Given the description of an element on the screen output the (x, y) to click on. 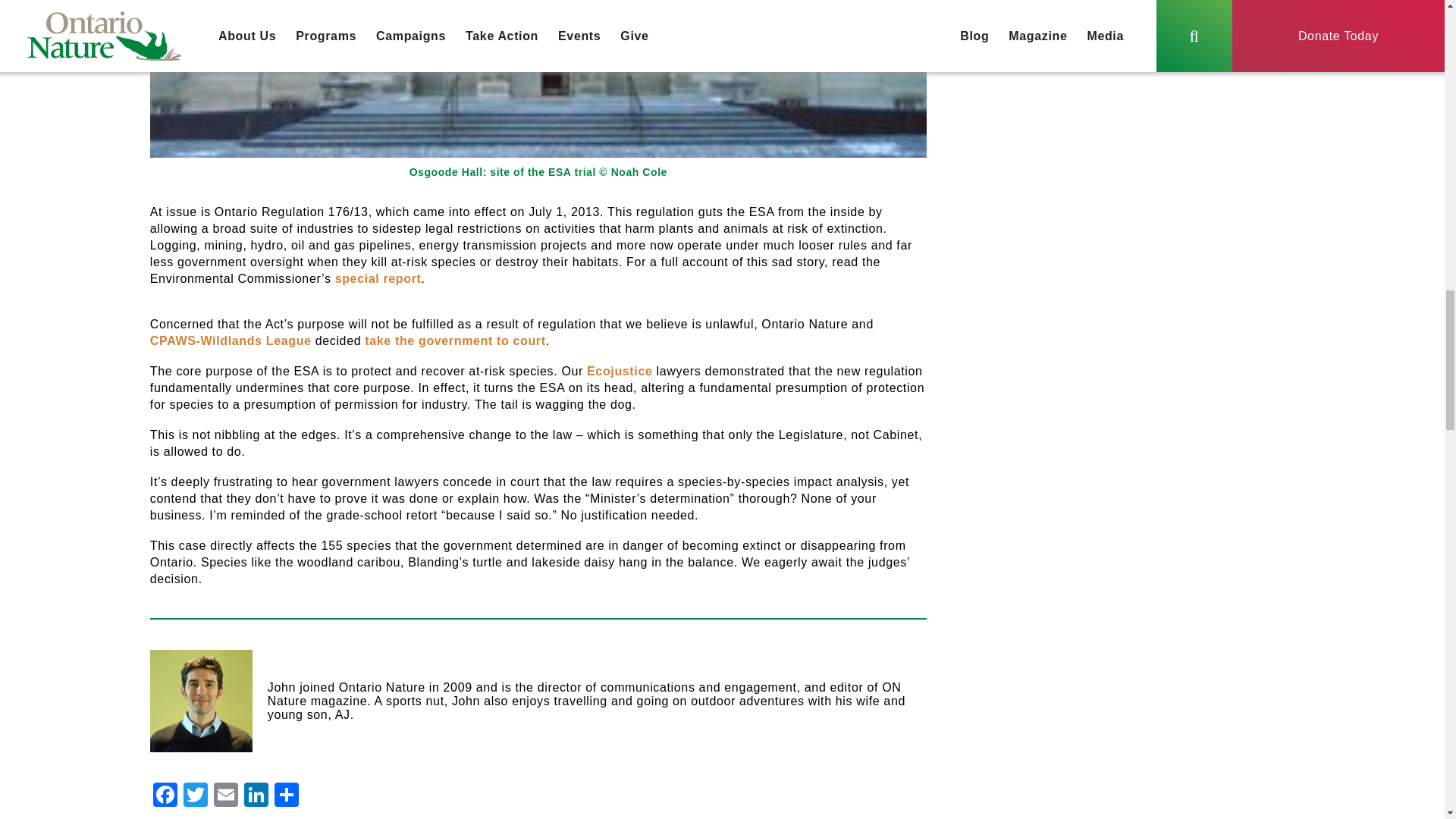
Facebook (164, 796)
John Hassell (200, 701)
Twitter (195, 796)
Email (226, 796)
LinkedIn (255, 796)
